Given the description of an element on the screen output the (x, y) to click on. 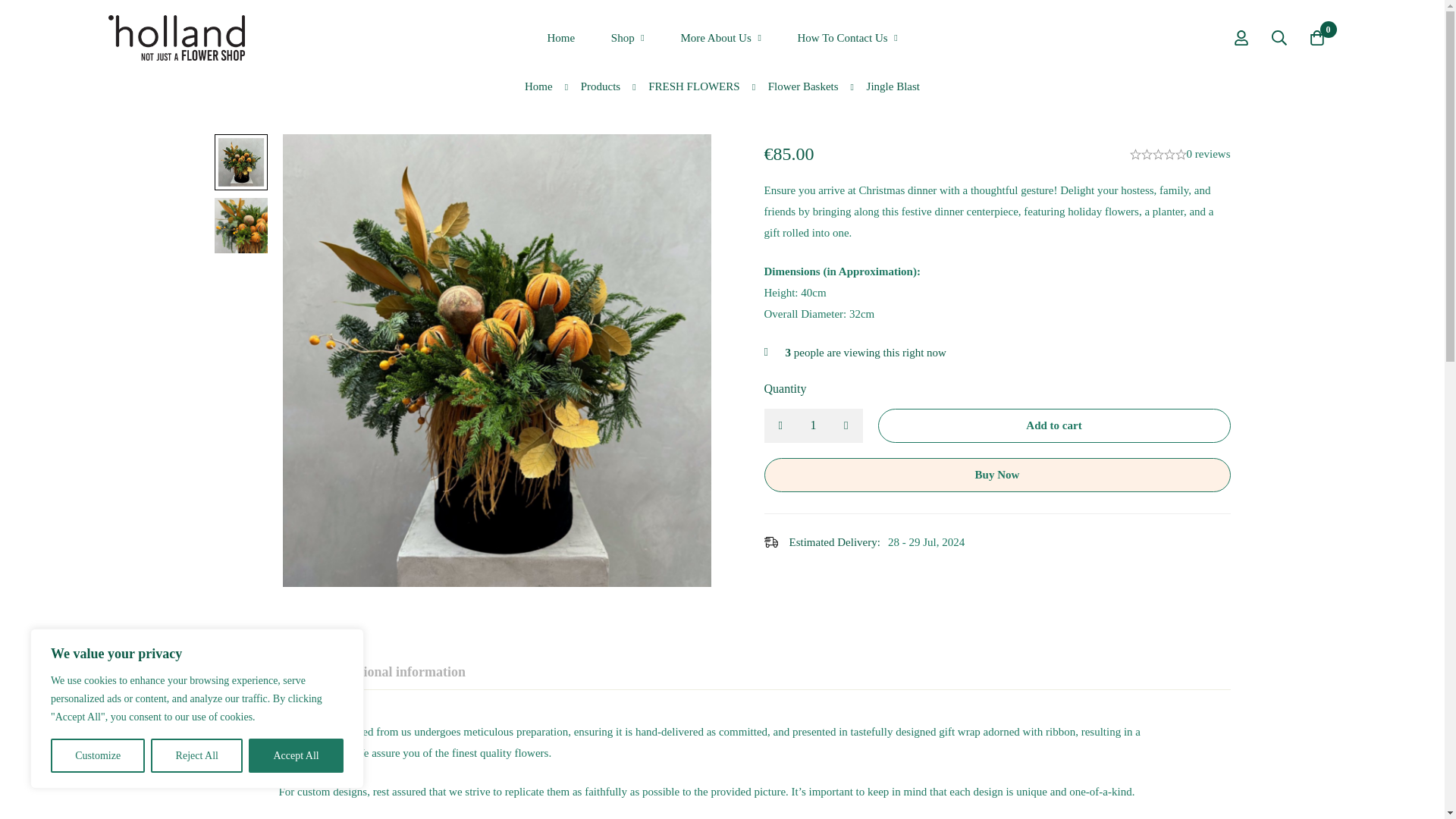
Shop (627, 37)
Reject All (197, 755)
1 (813, 424)
Customize (97, 755)
Home (560, 37)
Accept All (295, 755)
